Given the description of an element on the screen output the (x, y) to click on. 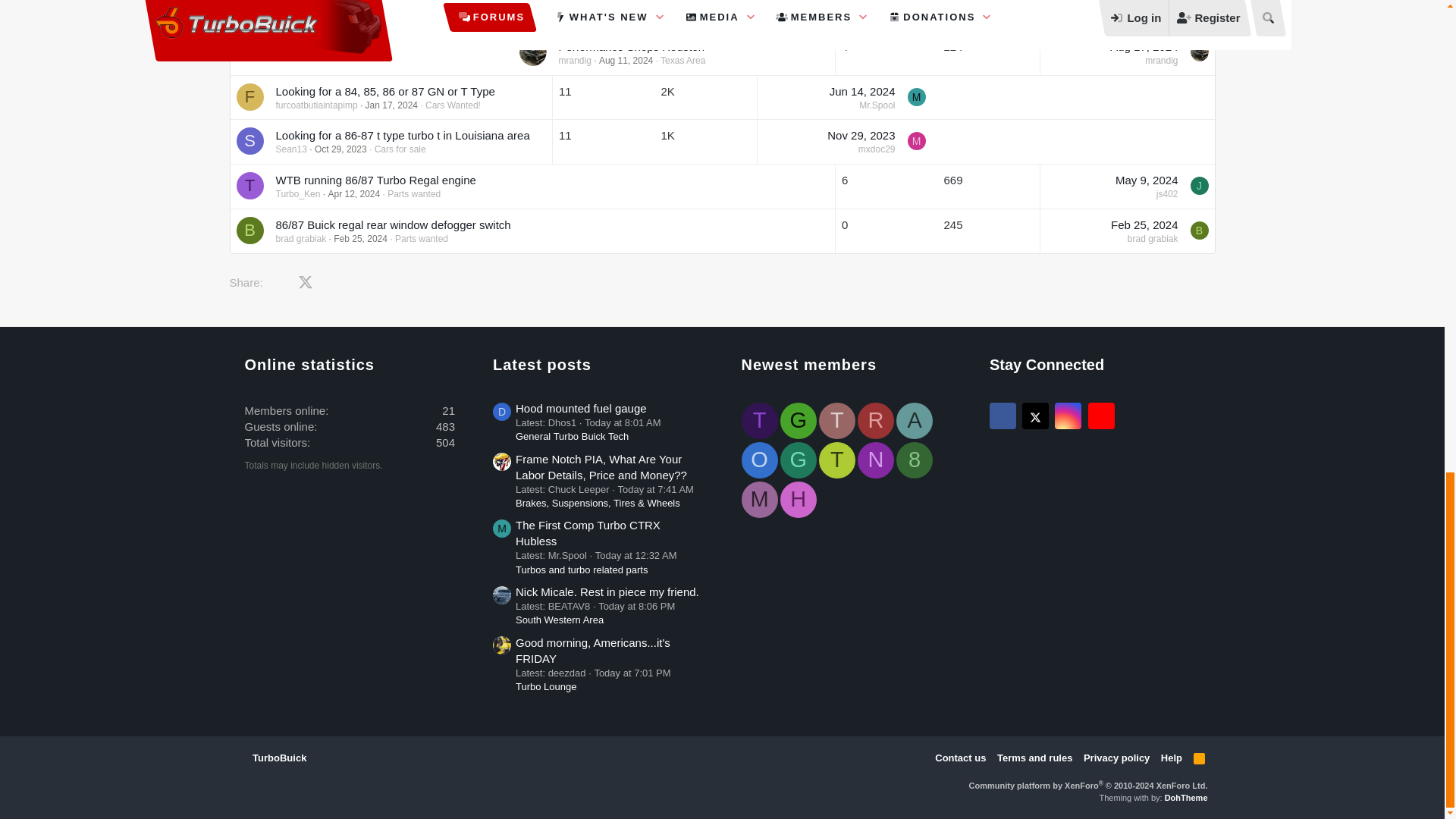
Nov 29, 2023 at 12:32 PM (861, 134)
Aug 11, 2024 at 11:53 AM (625, 60)
First message reaction score: 0 (886, 53)
First message reaction score: 0 (706, 96)
Aug 17, 2024 at 8:03 PM (1143, 46)
First message reaction score: 0 (602, 141)
First message reaction score: 0 (602, 96)
Jun 14, 2024 at 9:29 PM (862, 91)
Oct 29, 2023 at 7:03 PM (340, 149)
Style variation (319, 757)
